Given the description of an element on the screen output the (x, y) to click on. 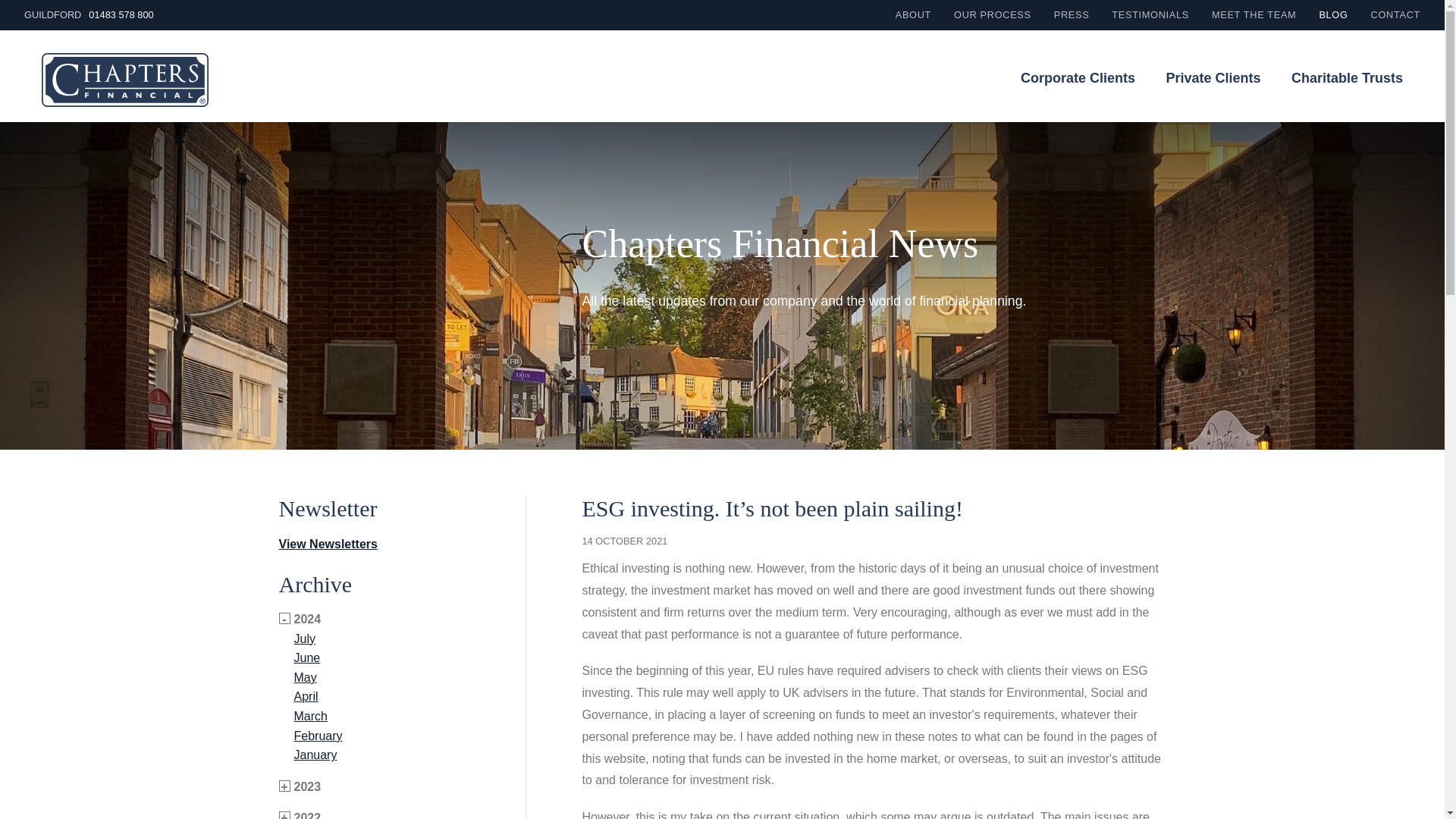
Private Clients (1213, 77)
February (318, 735)
June (307, 657)
MEET THE TEAM (1253, 14)
May (305, 676)
January (315, 754)
CONTACT (1396, 14)
March (310, 716)
Corporate Clients (1077, 77)
ABOUT (913, 14)
OUR PROCESS (991, 14)
BLOG (1333, 14)
July (304, 638)
View Newsletters (328, 543)
TESTIMONIALS (1150, 14)
